Given the description of an element on the screen output the (x, y) to click on. 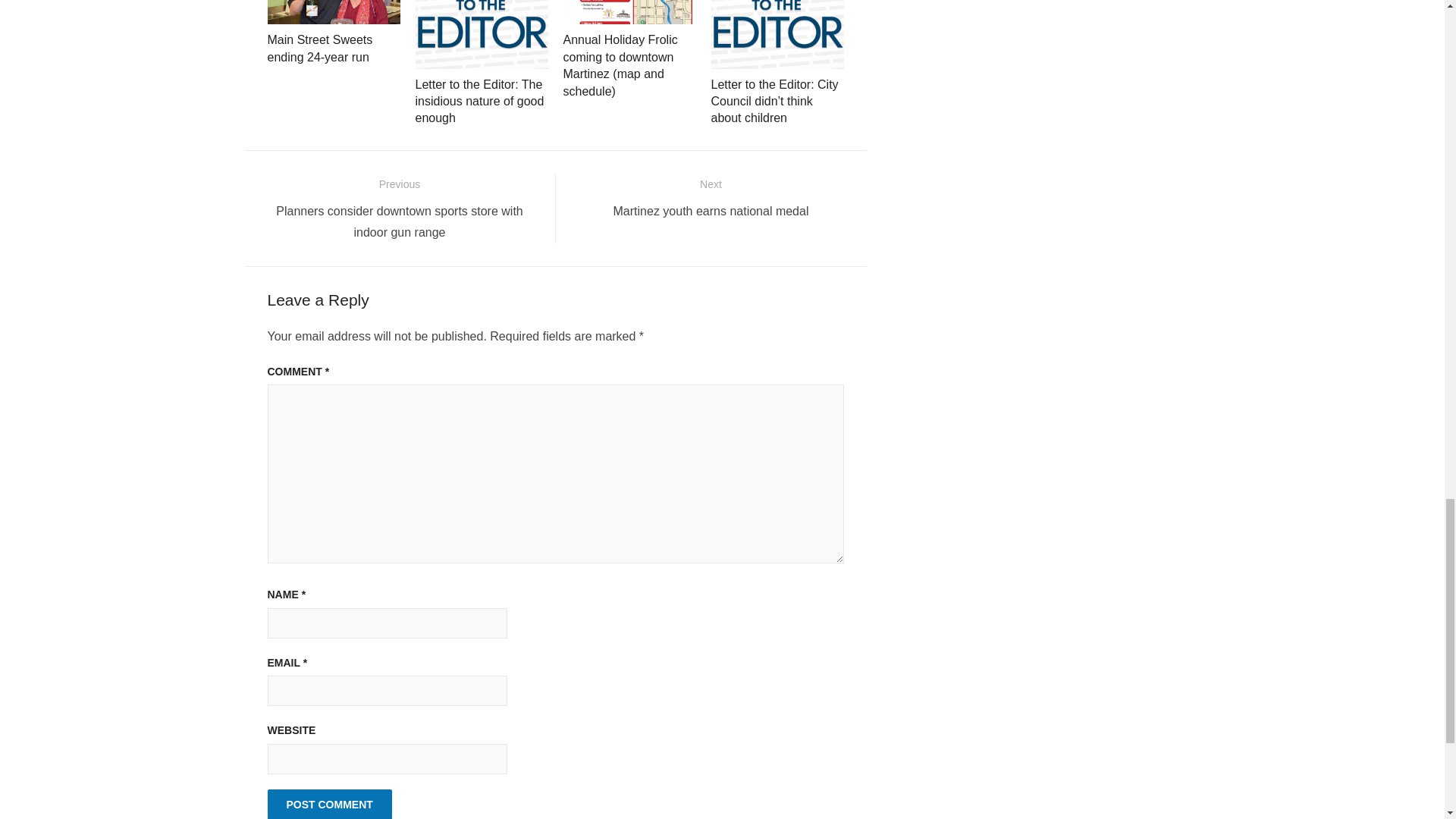
Main Street Sweets ending 24-year run (319, 48)
Post Comment (328, 804)
Letter to the Editor: The insidious nature of good enough (479, 101)
